Given the description of an element on the screen output the (x, y) to click on. 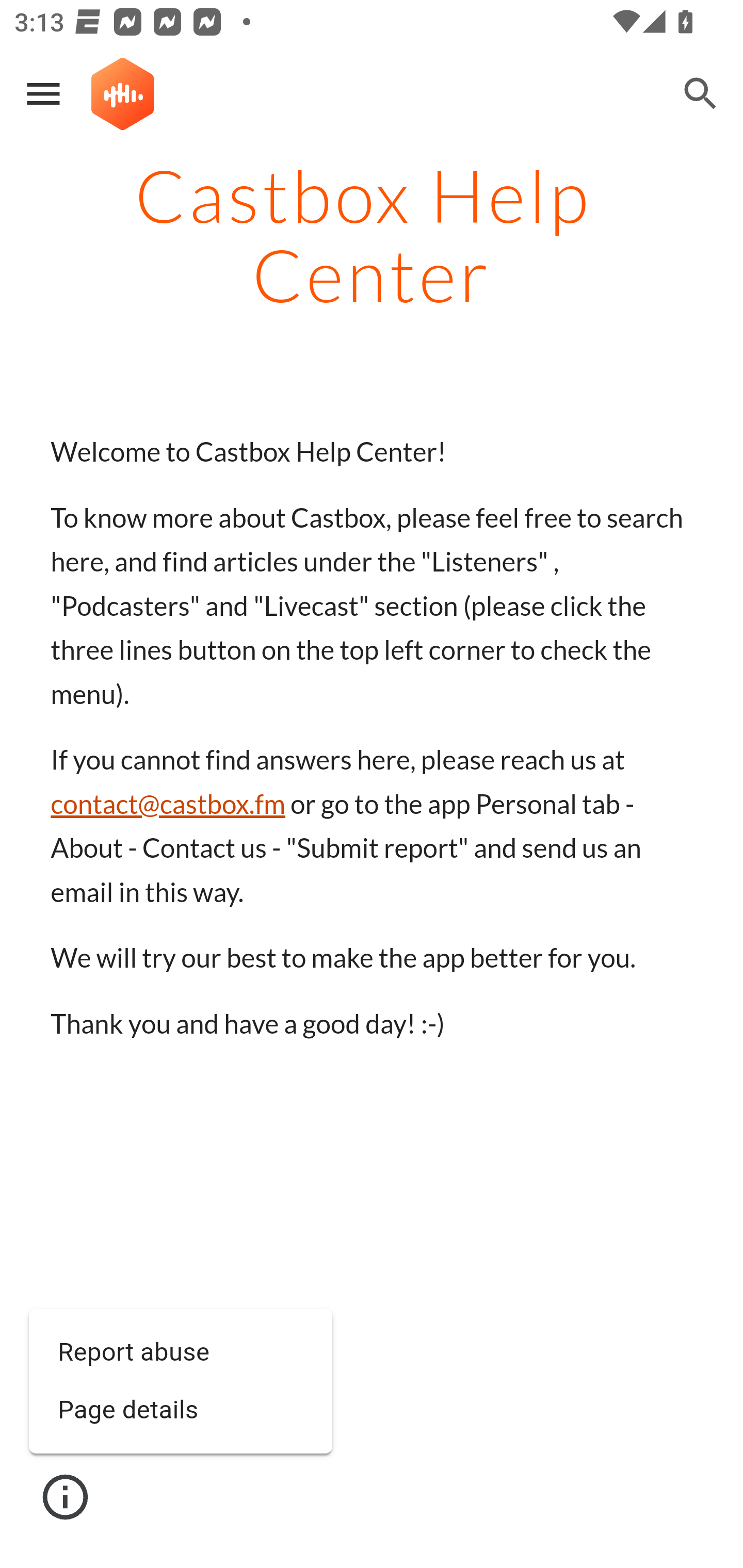
Skip to navigation (608, 109)
contact@castbox.fm (168, 804)
Report abuse (180, 1352)
Page details (180, 1410)
Site actions (65, 1497)
